Given the description of an element on the screen output the (x, y) to click on. 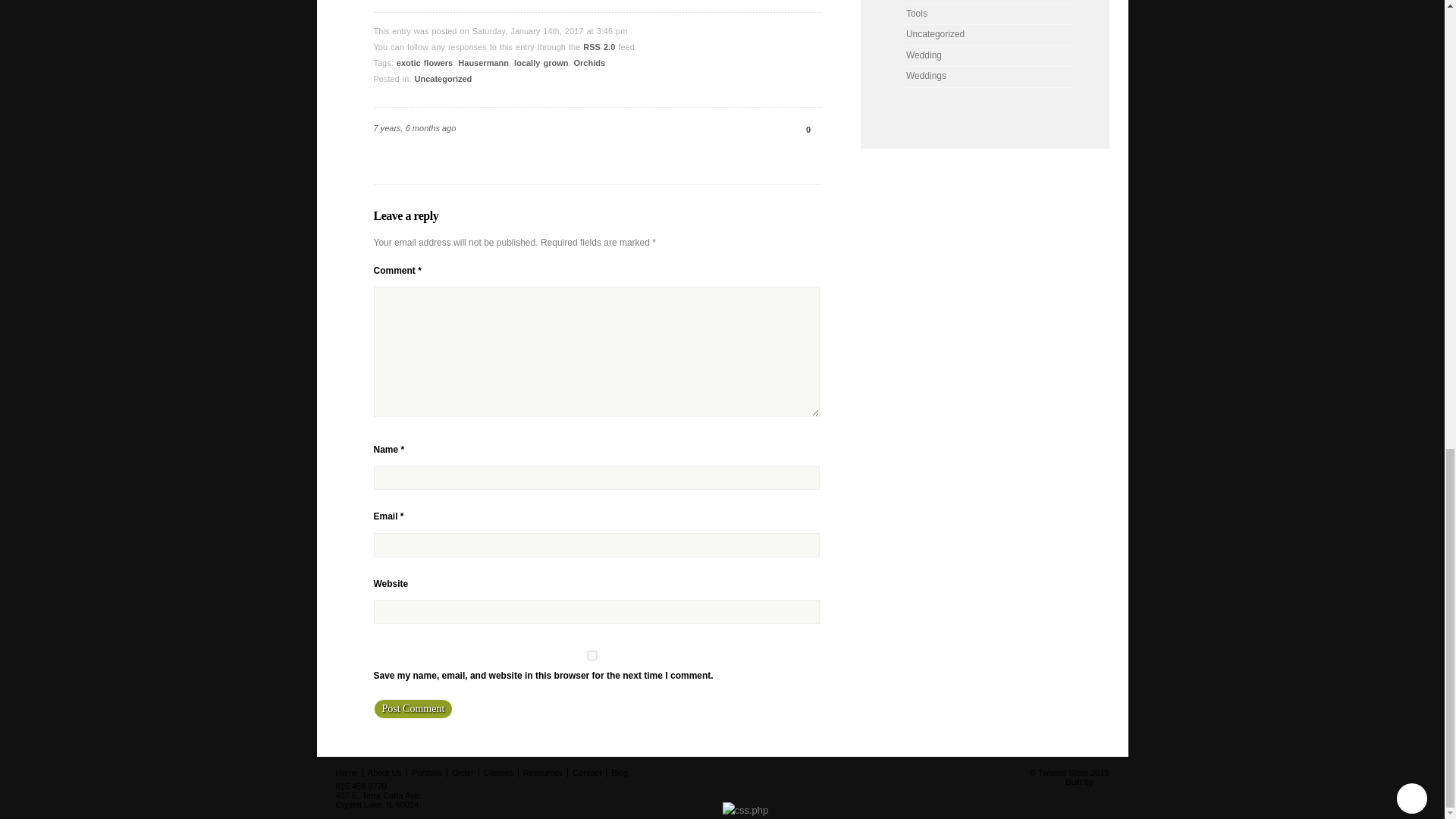
7 years, 6 months ago (413, 127)
Post Comment (412, 709)
Uncategorized (442, 78)
0 (802, 129)
Hausermann (483, 62)
Post Comment (412, 709)
exotic flowers (424, 62)
RSS 2.0 (598, 46)
Orchids (589, 62)
locally grown (540, 62)
yes (591, 655)
